Given the description of an element on the screen output the (x, y) to click on. 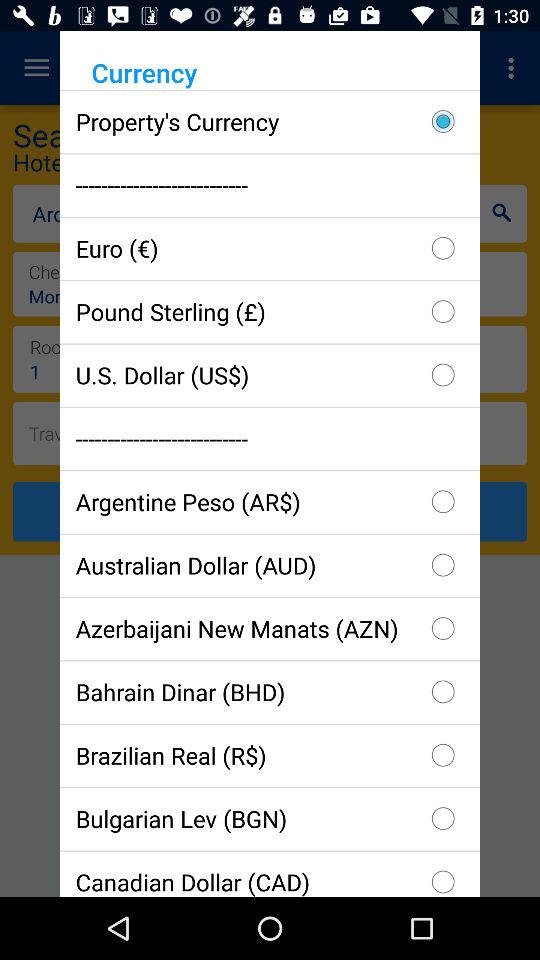
jump to the --------------------------- checkbox (270, 184)
